Given the description of an element on the screen output the (x, y) to click on. 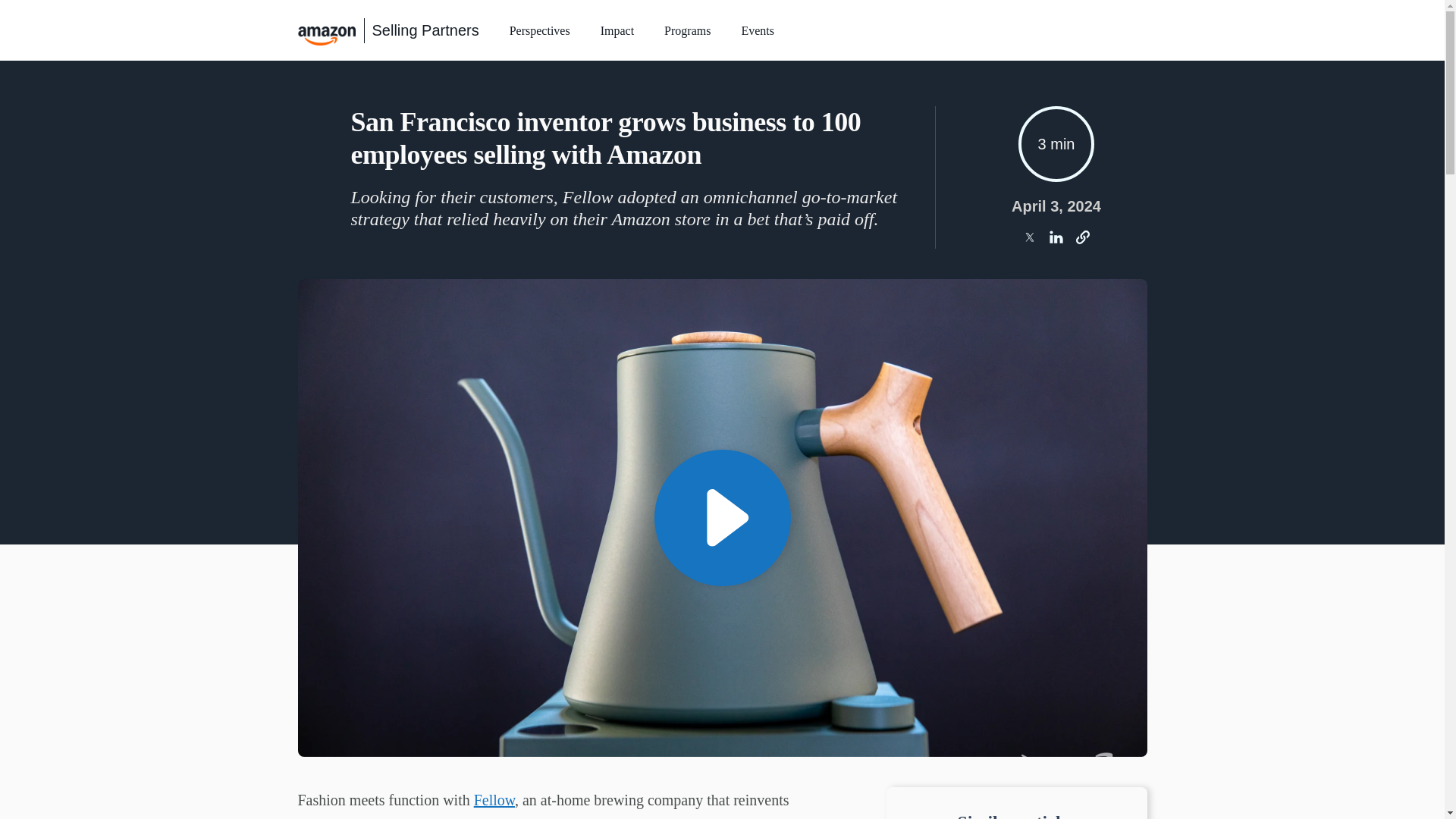
Perspectives (539, 32)
LinkedIn (1056, 237)
Twitter (1029, 237)
Programs (686, 32)
Fellow (494, 799)
